Given the description of an element on the screen output the (x, y) to click on. 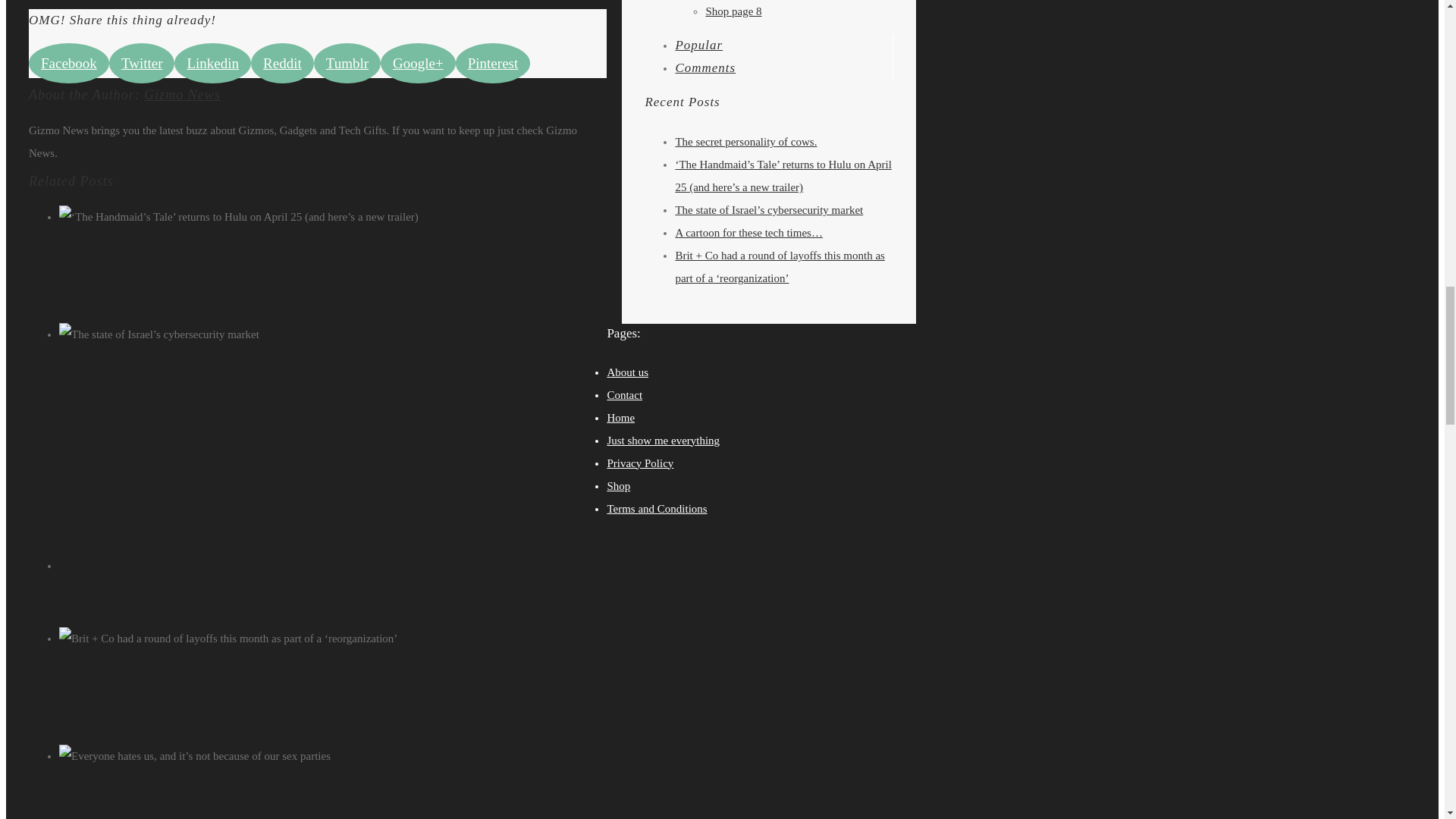
Permalink (356, 565)
Twitter (141, 63)
Gallery (349, 379)
Pinterest (493, 63)
Gizmo News (182, 94)
Permalink (356, 239)
Linkedin (212, 63)
Posts by Gizmo News (182, 94)
Tumblr (347, 63)
Gallery (349, 262)
Facebook (69, 63)
Permalink (356, 778)
Facebook (69, 63)
Permalink (356, 357)
Pinterest (493, 63)
